Given the description of an element on the screen output the (x, y) to click on. 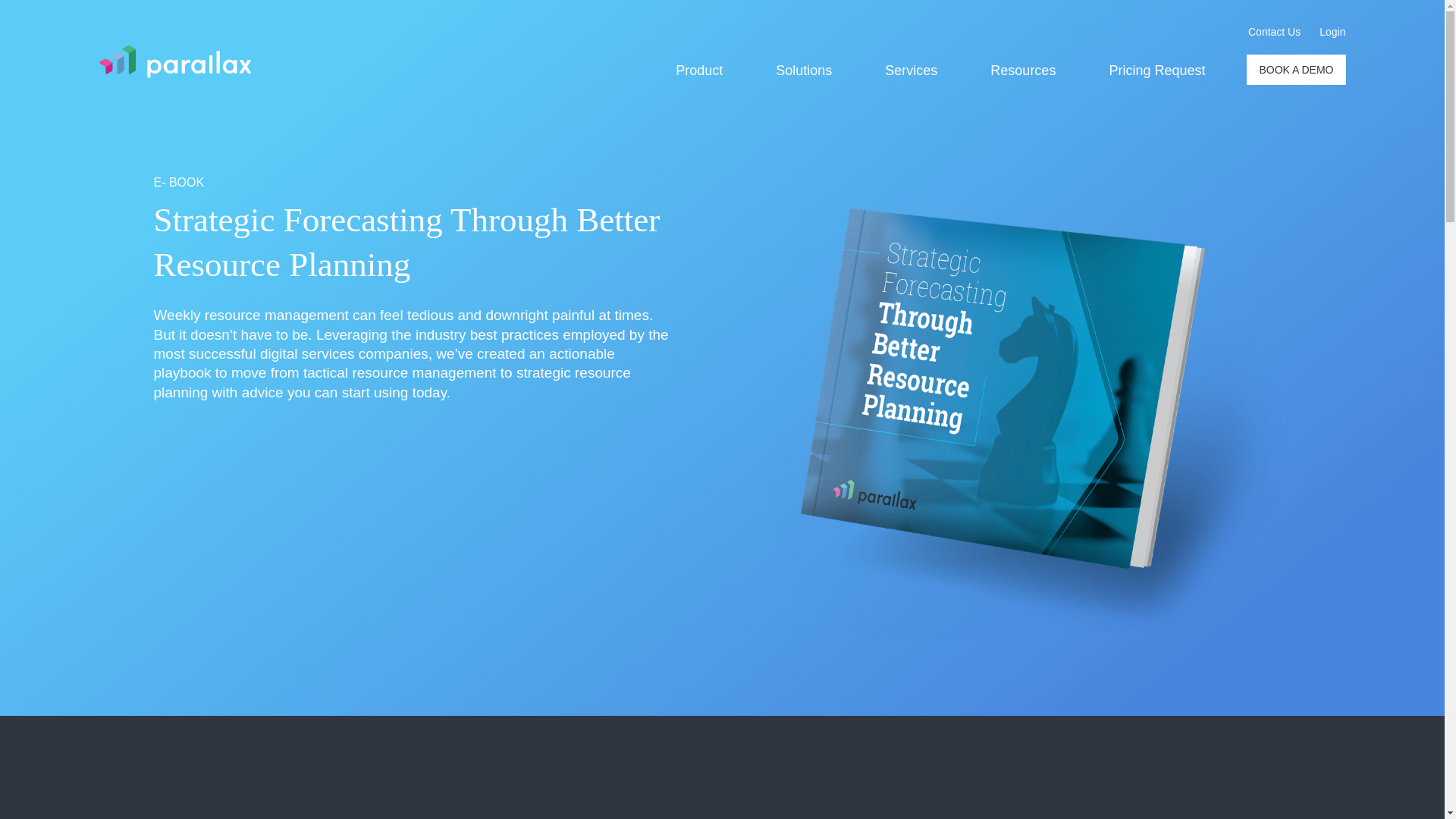
Product (698, 71)
Solutions (803, 71)
Login (1332, 32)
Pricing Request (1156, 71)
BOOK A DEMO (1295, 69)
Contact Us (1273, 32)
Resources (1022, 71)
Services (911, 71)
